Given the description of an element on the screen output the (x, y) to click on. 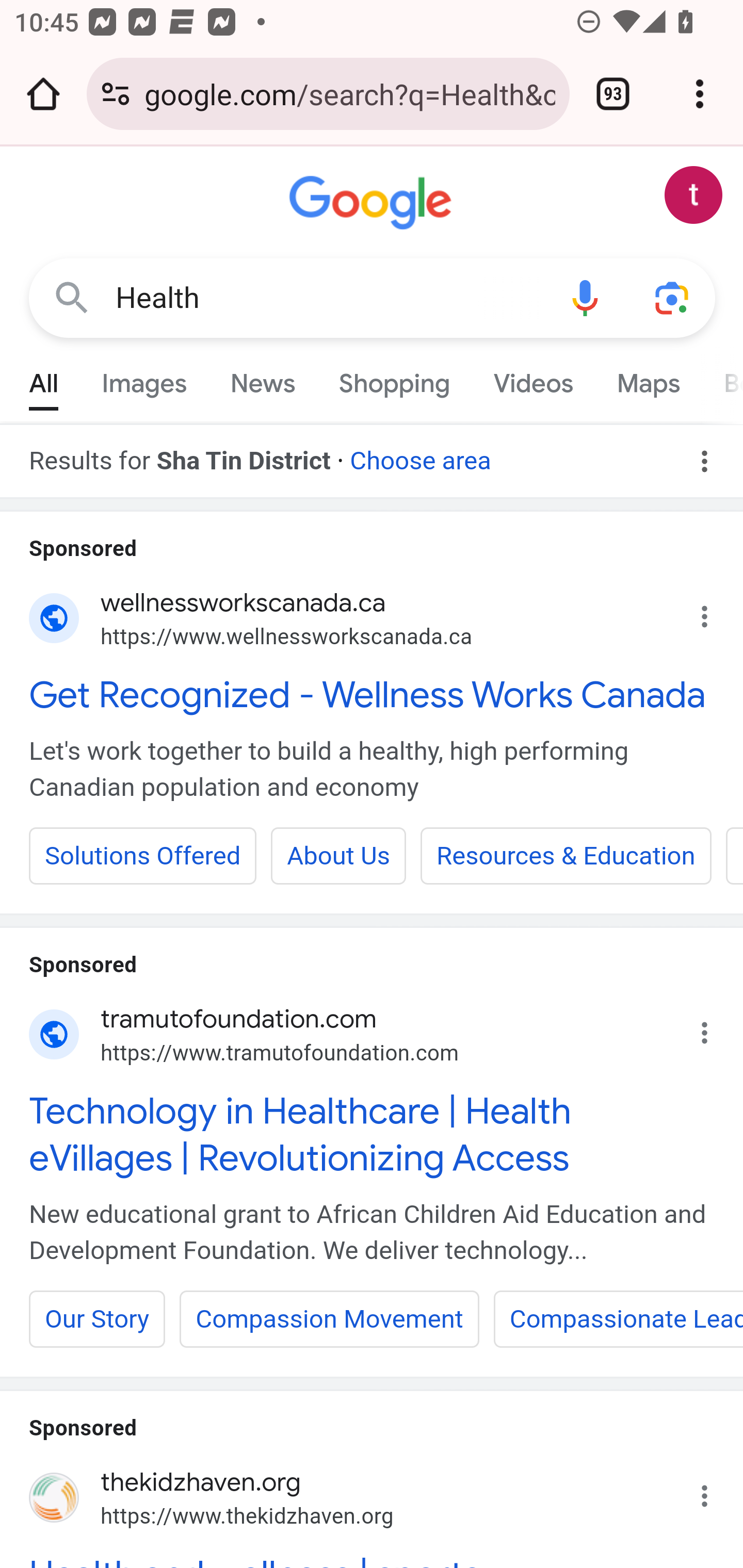
Open the home page (43, 93)
Connection is secure (115, 93)
Switch or close tabs (612, 93)
Customize and control Google Chrome (699, 93)
Google (372, 203)
Google Search (71, 296)
Search using your camera or photos (672, 296)
Health (328, 297)
Images (144, 378)
News (262, 378)
Shopping (394, 378)
Videos (533, 378)
Maps (647, 378)
Choose area (419, 453)
Why this ad? (714, 611)
Get Recognized - Wellness Works Canada (372, 694)
Solutions Offered (142, 855)
About Us (339, 855)
Resources & Education (566, 855)
Why this ad? (714, 1027)
Our Story (97, 1318)
Compassion Movement (329, 1318)
Compassionate Leadership (617, 1318)
Why this ad? (714, 1489)
